Given the description of an element on the screen output the (x, y) to click on. 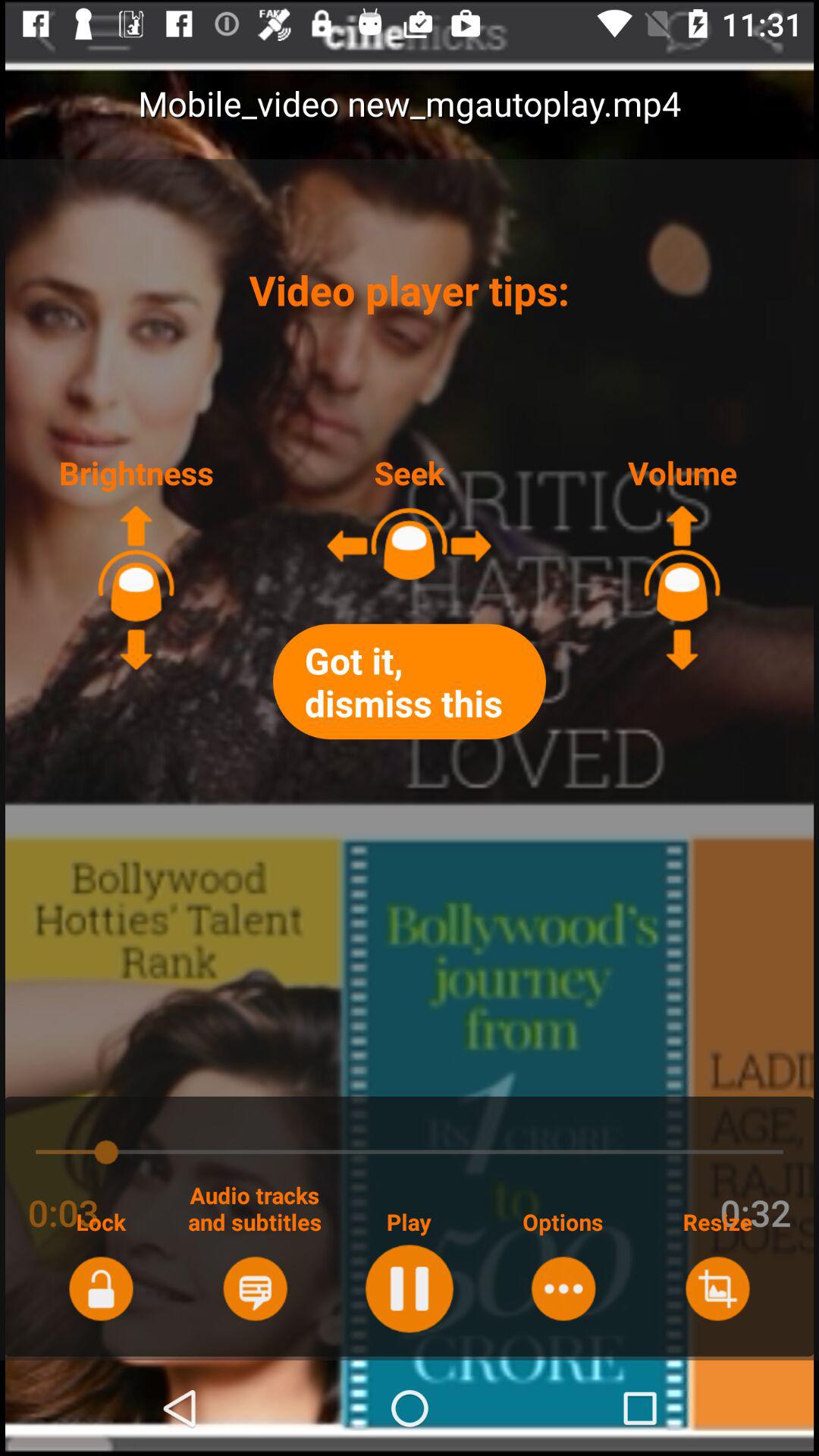
play and pause button (409, 1288)
